Given the description of an element on the screen output the (x, y) to click on. 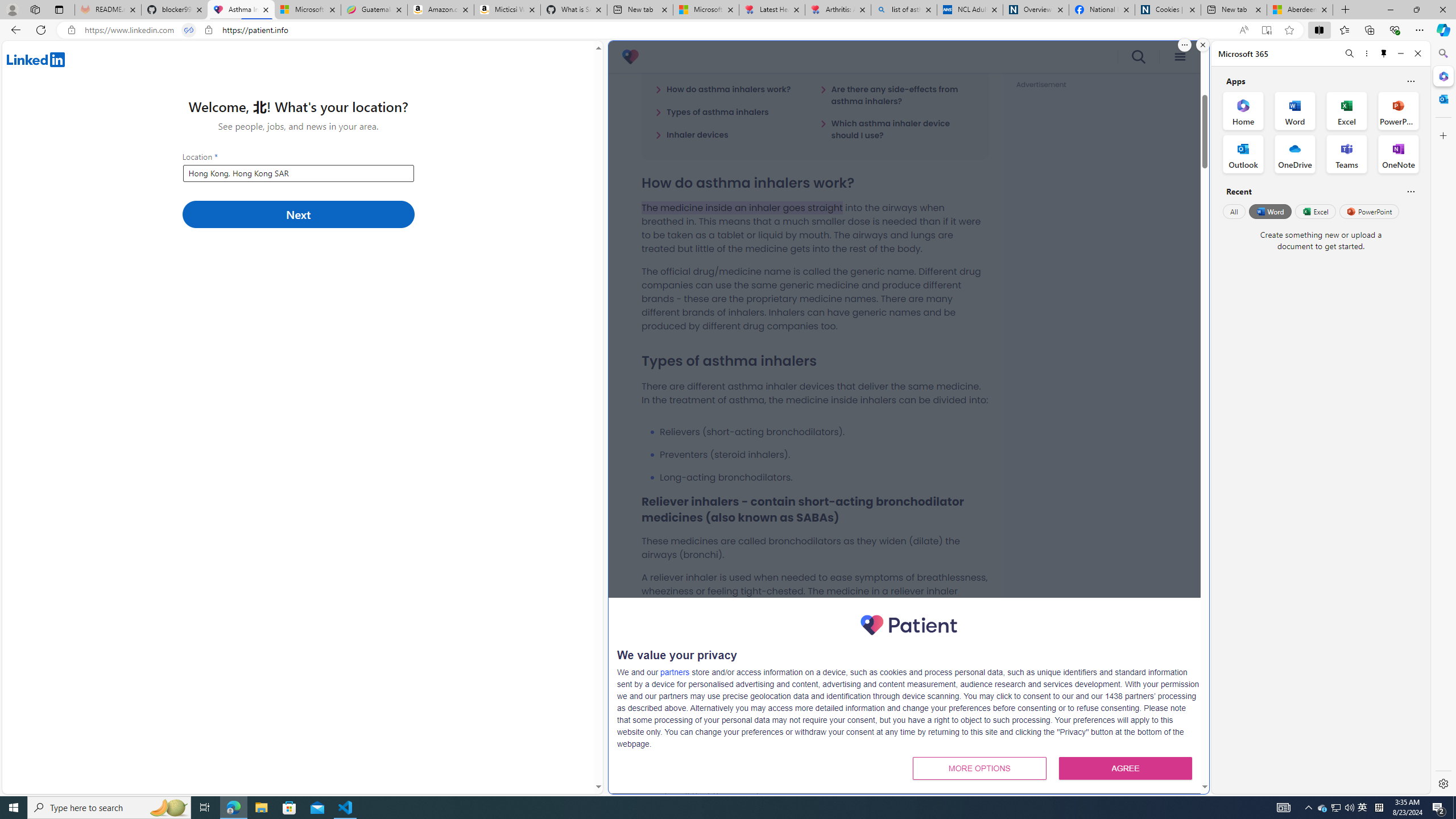
Cookies | About | NICE (1167, 9)
Long-acting bronchodilators. (823, 477)
Which asthma inhaler device should I use? (897, 129)
Close split screen. (1202, 45)
Teams Office App (1346, 154)
Is this helpful? (1410, 191)
